Given the description of an element on the screen output the (x, y) to click on. 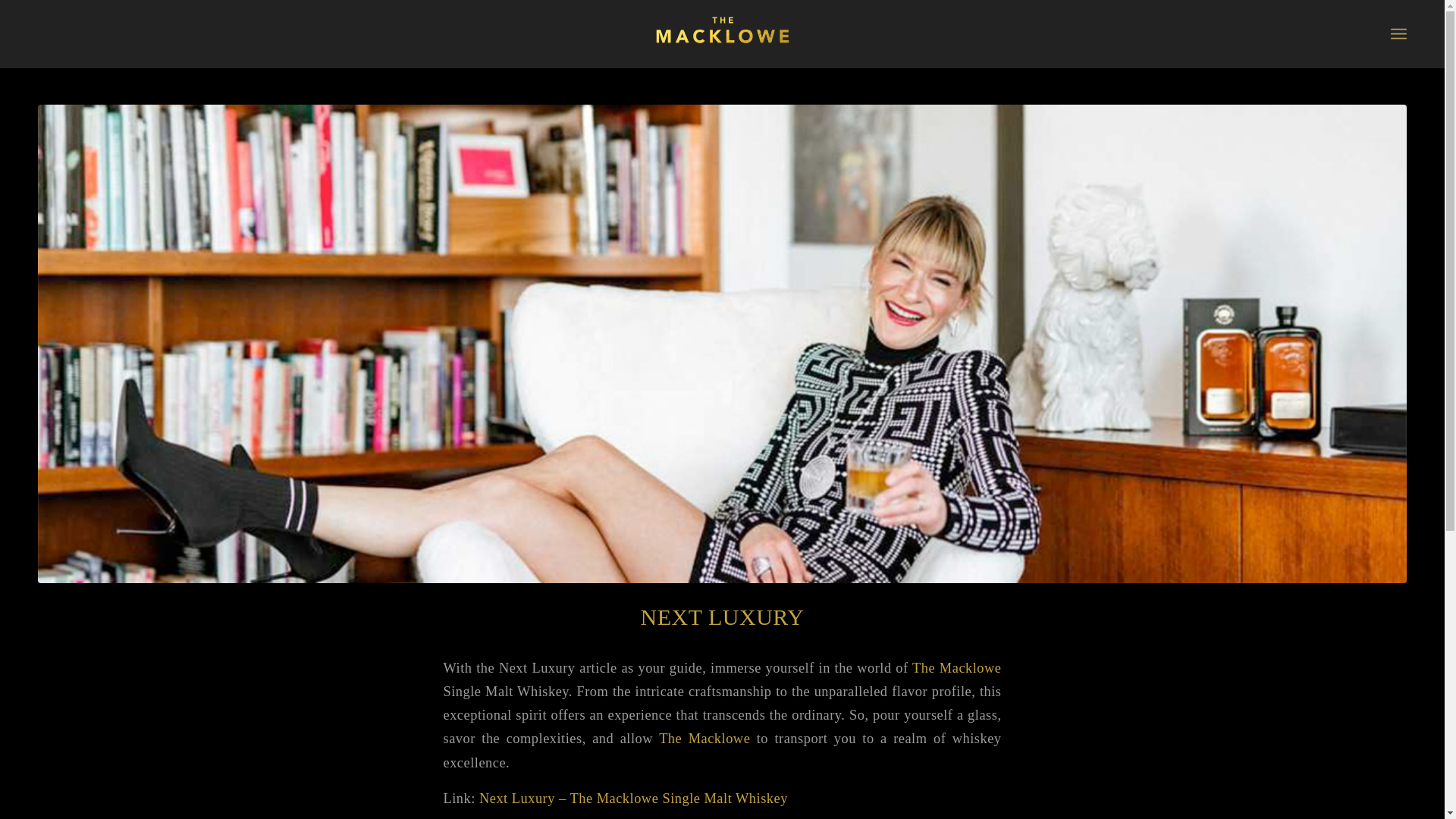
Our Story (1054, 624)
The Macklowe (956, 667)
The Macklowe Reviews (722, 33)
The Macklowe Reviews (722, 30)
Julie Macklowe (1054, 624)
The Macklowe (704, 738)
RESERVE LIST (237, 685)
